Given the description of an element on the screen output the (x, y) to click on. 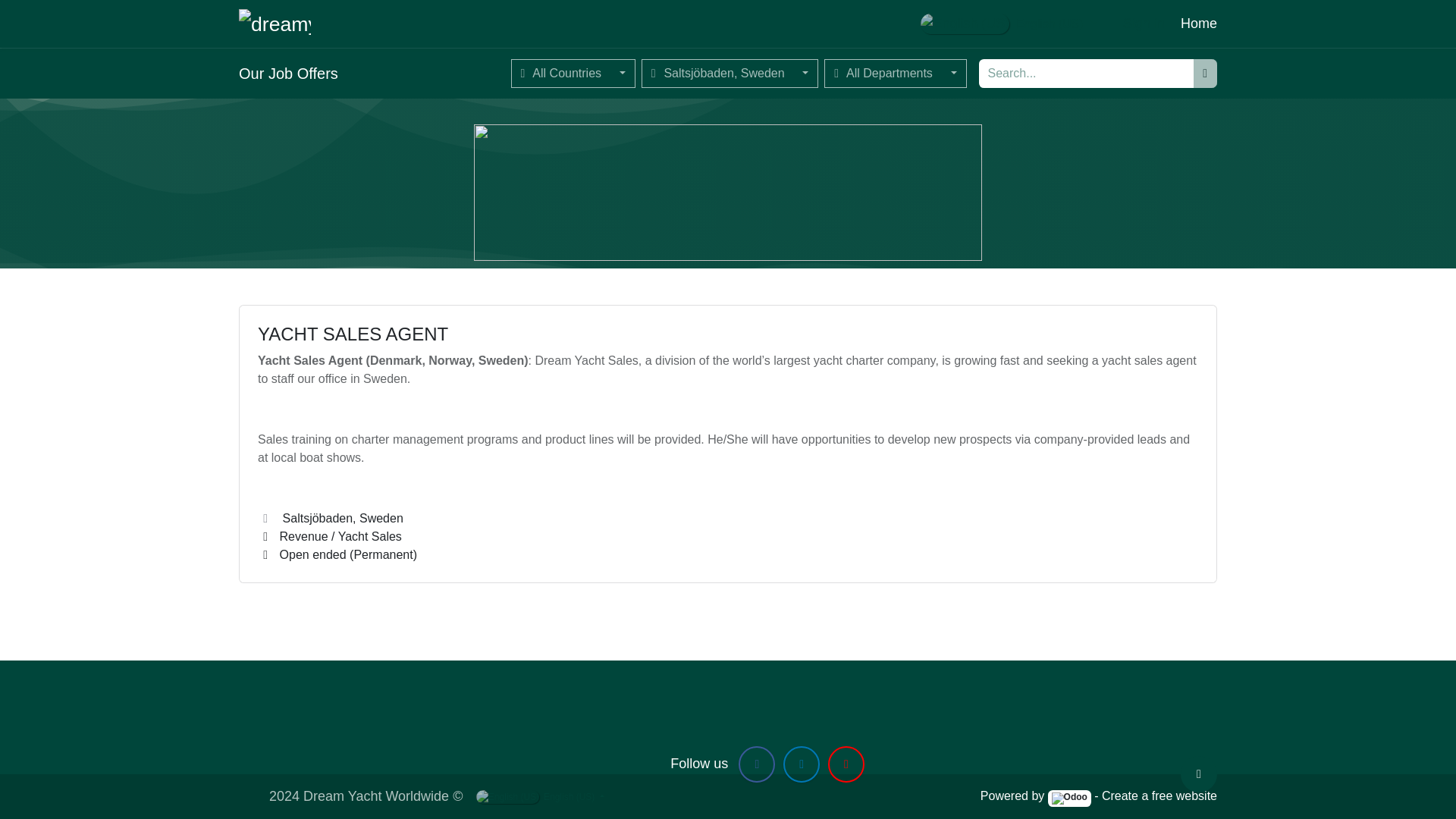
Home (1198, 23)
dreamyacht (274, 24)
Sign in (1143, 23)
All Countries (572, 72)
Employment type (265, 554)
